Given the description of an element on the screen output the (x, y) to click on. 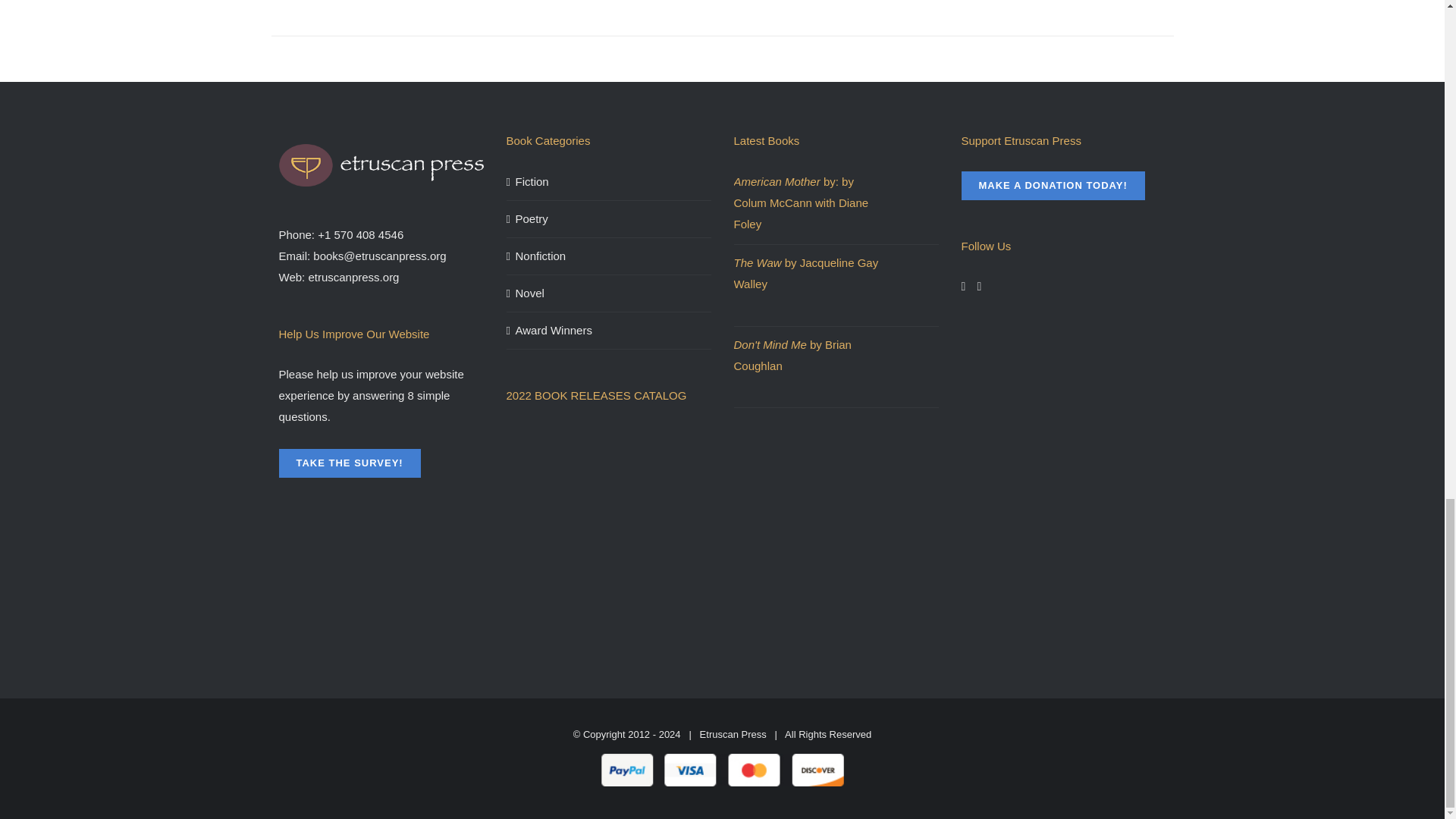
2021 BOOK RELEASES CATALOG (598, 538)
